Given the description of an element on the screen output the (x, y) to click on. 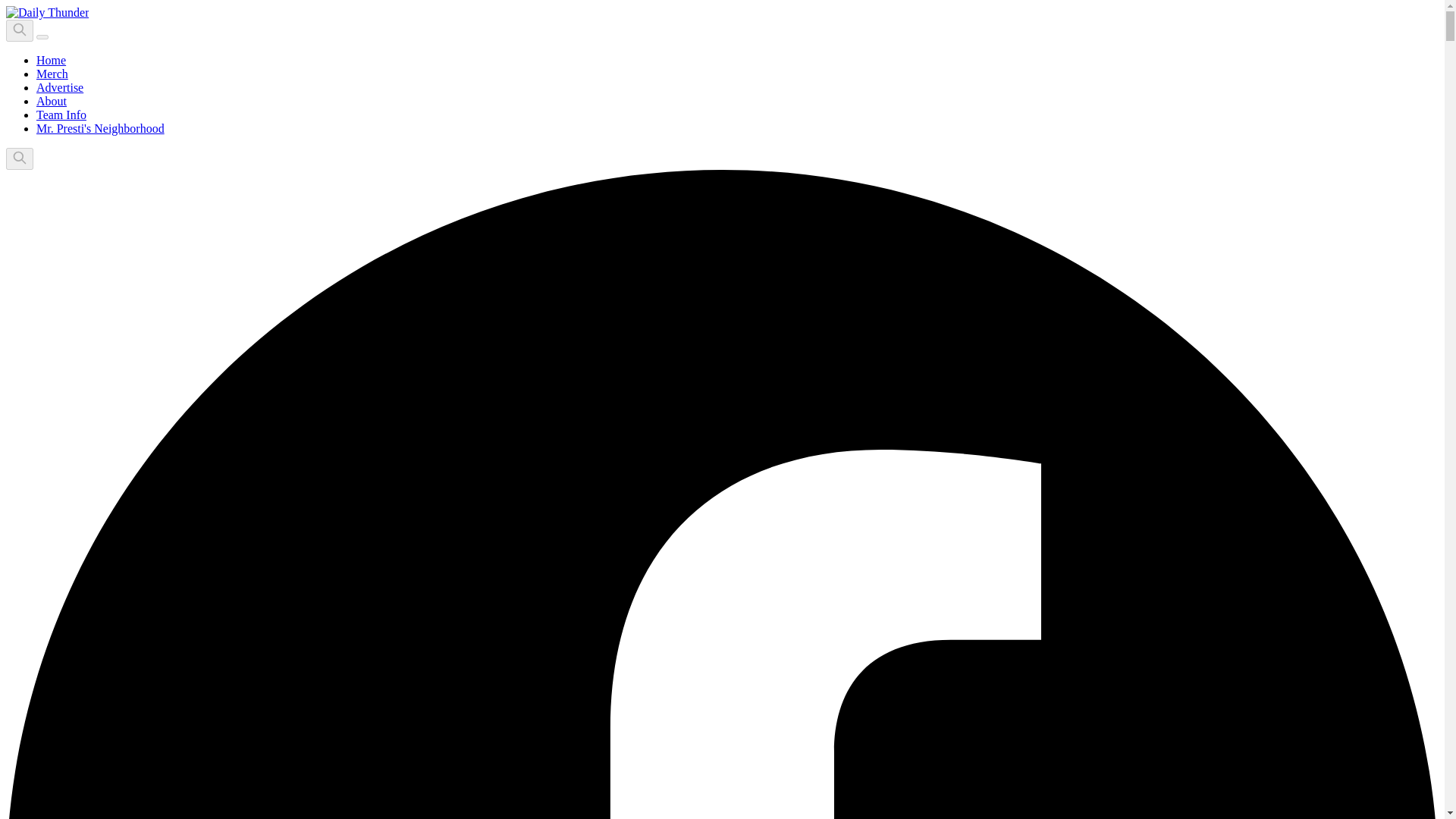
Team Info (60, 114)
Merch (52, 73)
Advertise (59, 87)
Mr. Presti's Neighborhood (100, 128)
About (51, 101)
Home (50, 60)
